Given the description of an element on the screen output the (x, y) to click on. 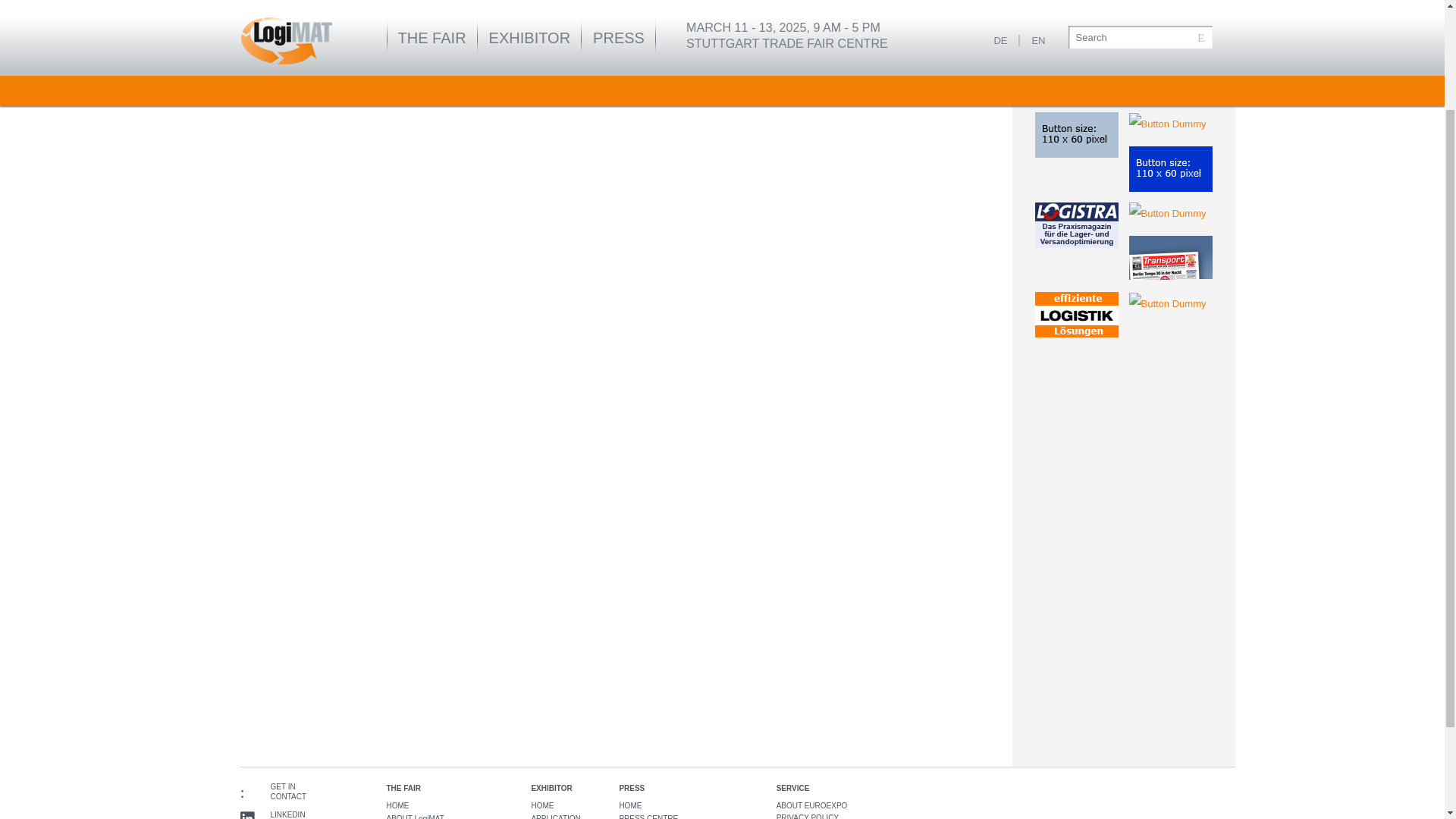
This could be your button place! (1166, 213)
This could be your button place! (1166, 303)
Logistik Heute (1075, 314)
Transport (1169, 258)
HOME (630, 805)
HOME (542, 805)
This could be your button place! (1166, 124)
HOME (398, 805)
Logistra (1075, 225)
This could be your button place! (1075, 135)
